Given the description of an element on the screen output the (x, y) to click on. 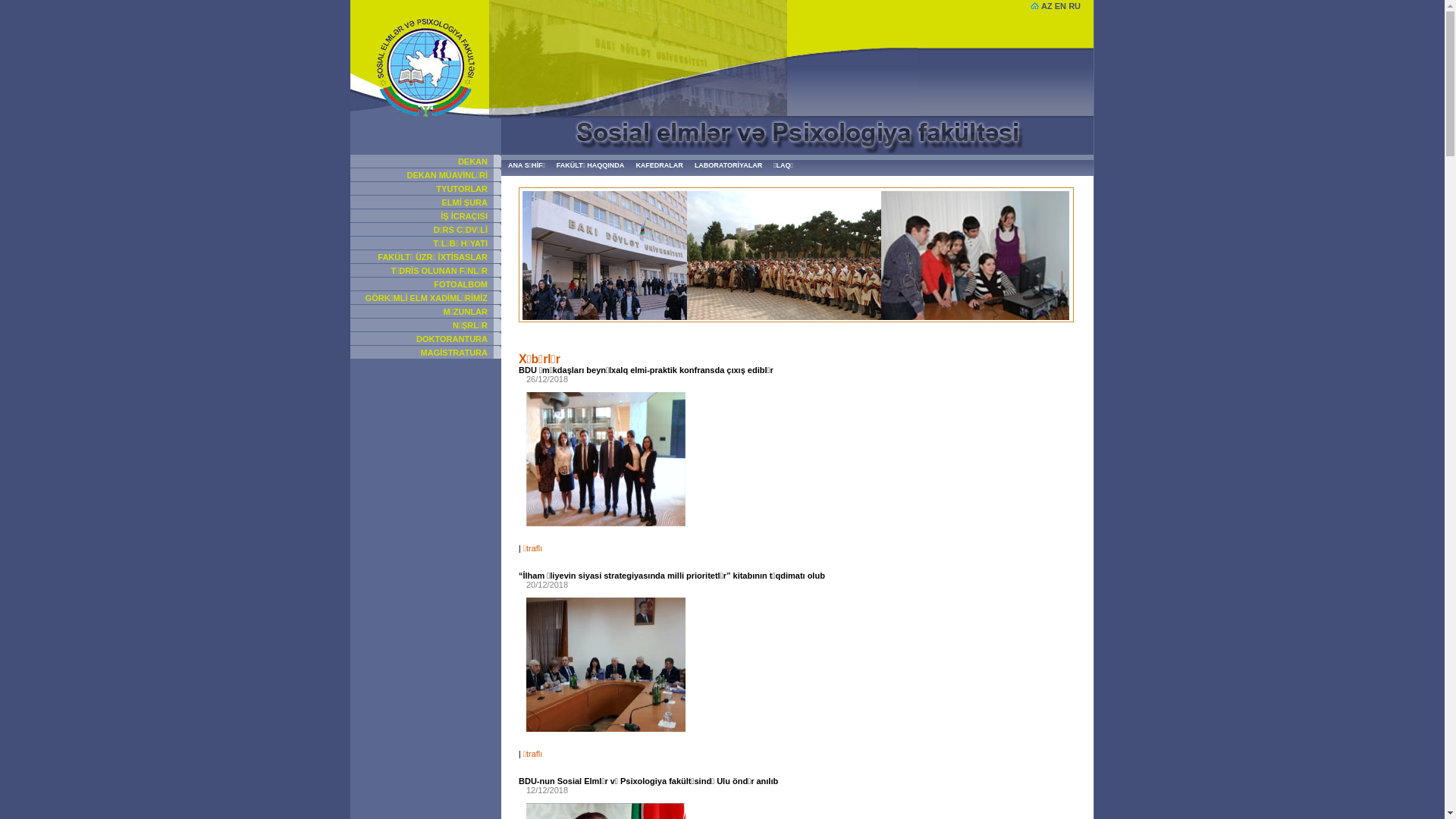
FOTOALBOM Element type: text (460, 283)
DEKAN Element type: text (472, 161)
DOKTORANTURA Element type: text (451, 338)
RU Element type: text (1074, 5)
TYUTORLAR Element type: text (461, 188)
KAFEDRALAR Element type: text (659, 165)
EN Element type: text (1060, 5)
AZ Element type: text (1046, 5)
